Given the description of an element on the screen output the (x, y) to click on. 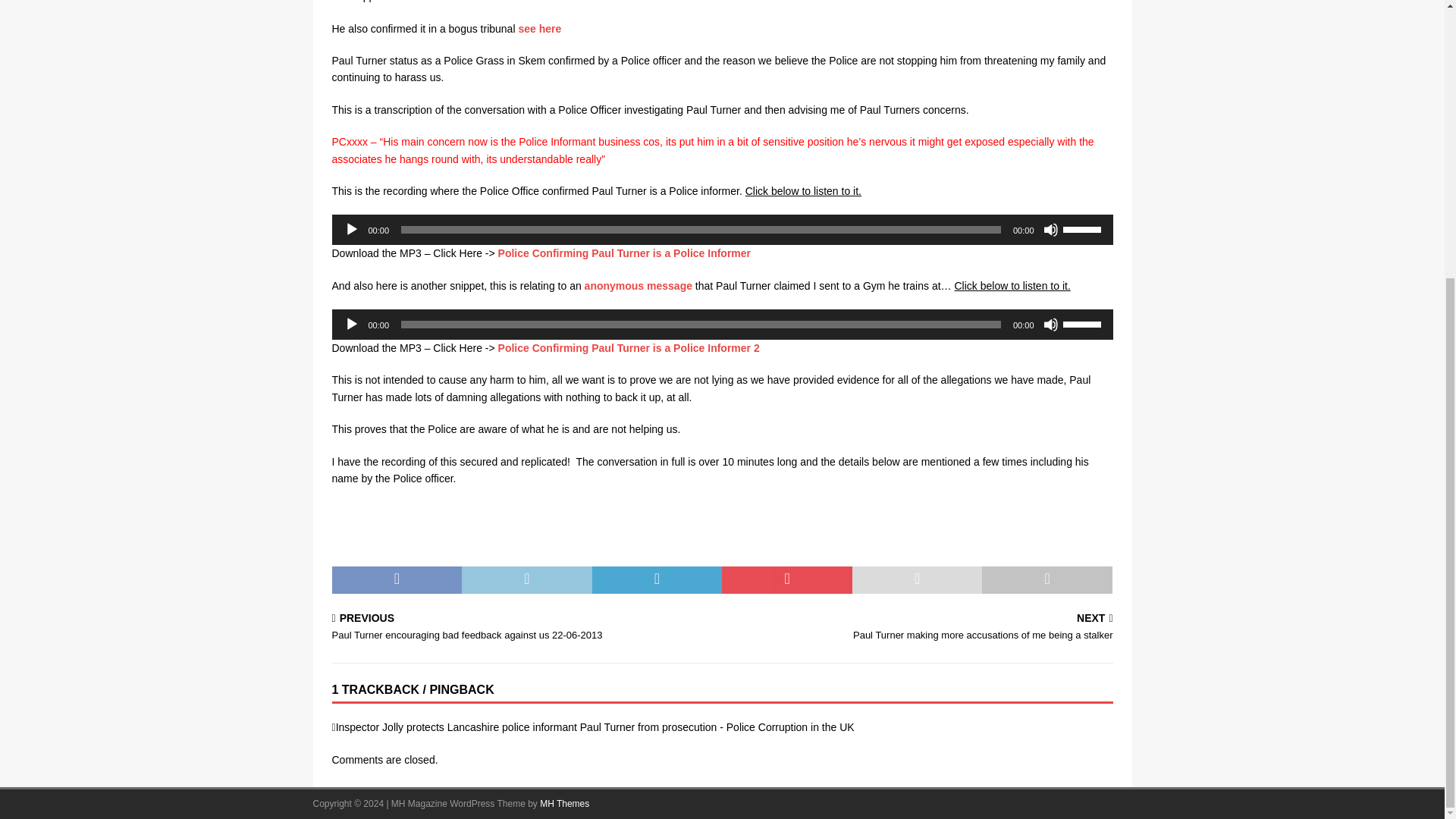
anonymous message (639, 285)
Play (351, 229)
Paul Turner is a Police Informer confirmed by bogus tribunal (539, 28)
Mute (1050, 229)
Police Confirming Paul Turner is a Police Informer (624, 253)
see here (539, 28)
